Given the description of an element on the screen output the (x, y) to click on. 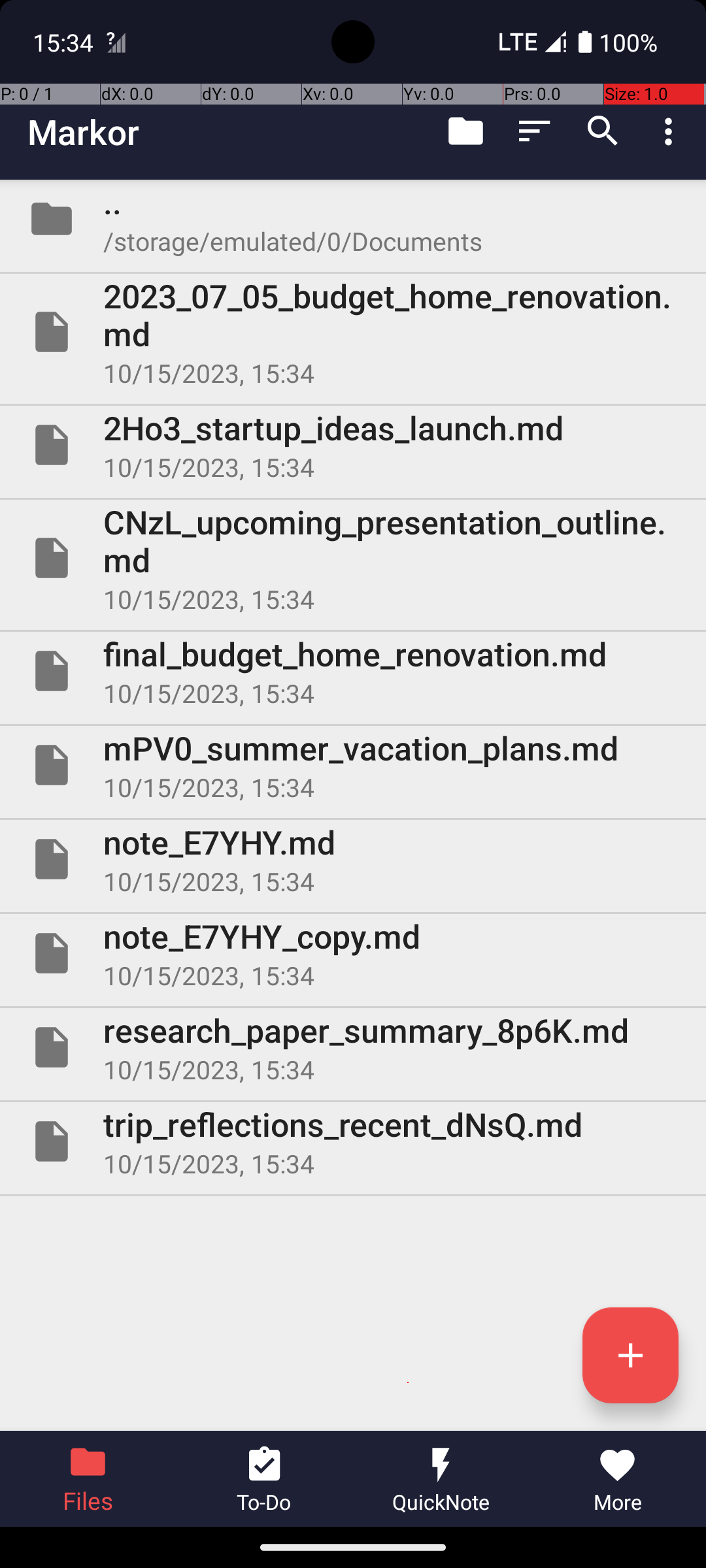
File 2023_07_05_budget_home_renovation.md  Element type: android.widget.LinearLayout (353, 331)
File 2Ho3_startup_ideas_launch.md  Element type: android.widget.LinearLayout (353, 444)
File CNzL_upcoming_presentation_outline.md  Element type: android.widget.LinearLayout (353, 557)
File final_budget_home_renovation.md  Element type: android.widget.LinearLayout (353, 670)
File mPV0_summer_vacation_plans.md  Element type: android.widget.LinearLayout (353, 764)
File note_E7YHY.md  Element type: android.widget.LinearLayout (353, 858)
File note_E7YHY_copy.md  Element type: android.widget.LinearLayout (353, 953)
File research_paper_summary_8p6K.md  Element type: android.widget.LinearLayout (353, 1047)
File trip_reflections_recent_dNsQ.md  Element type: android.widget.LinearLayout (353, 1141)
